Given the description of an element on the screen output the (x, y) to click on. 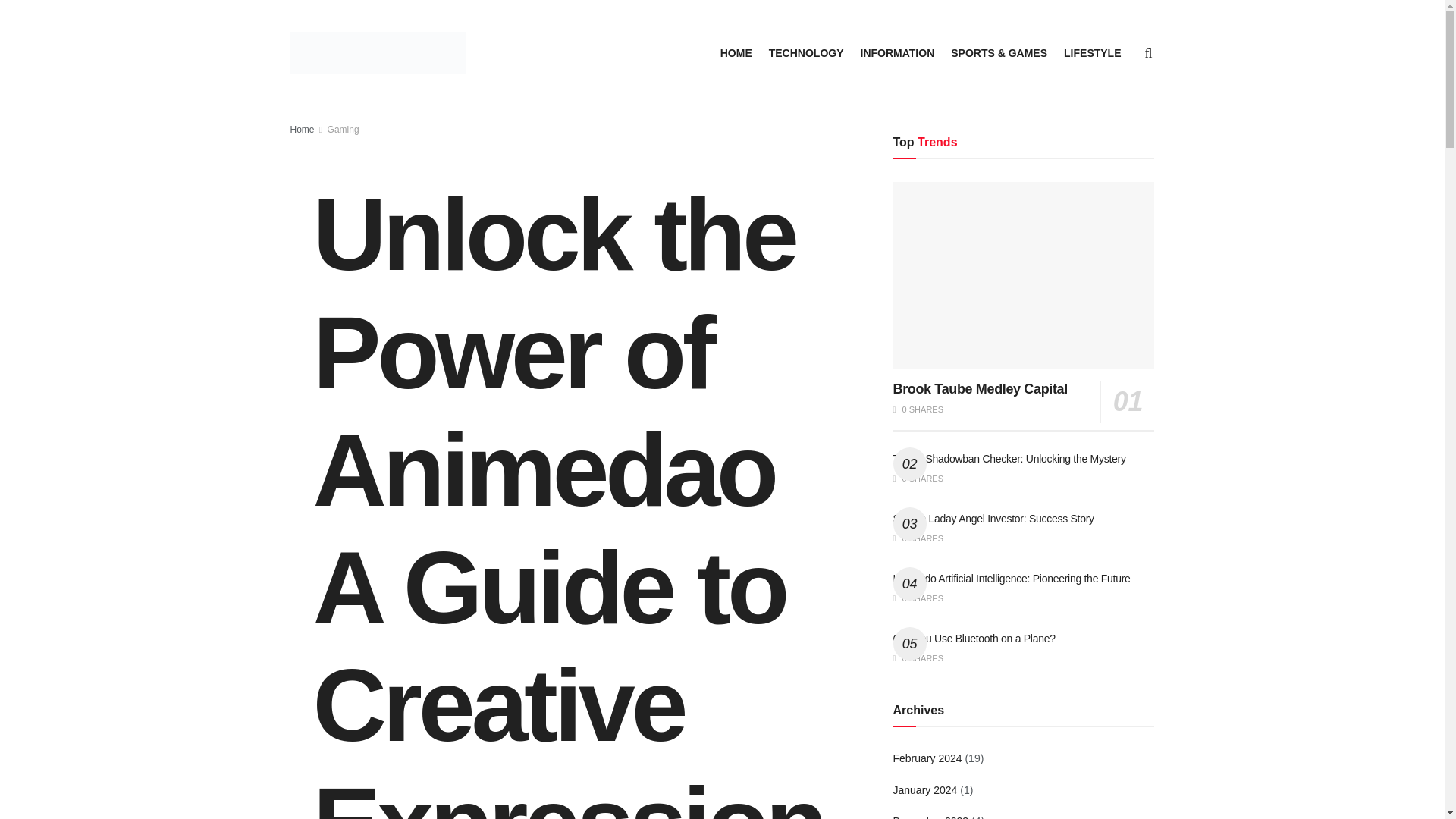
HOME (736, 52)
INFORMATION (897, 52)
Gaming (343, 129)
LIFESTYLE (1092, 52)
Home (301, 129)
TECHNOLOGY (806, 52)
